Given the description of an element on the screen output the (x, y) to click on. 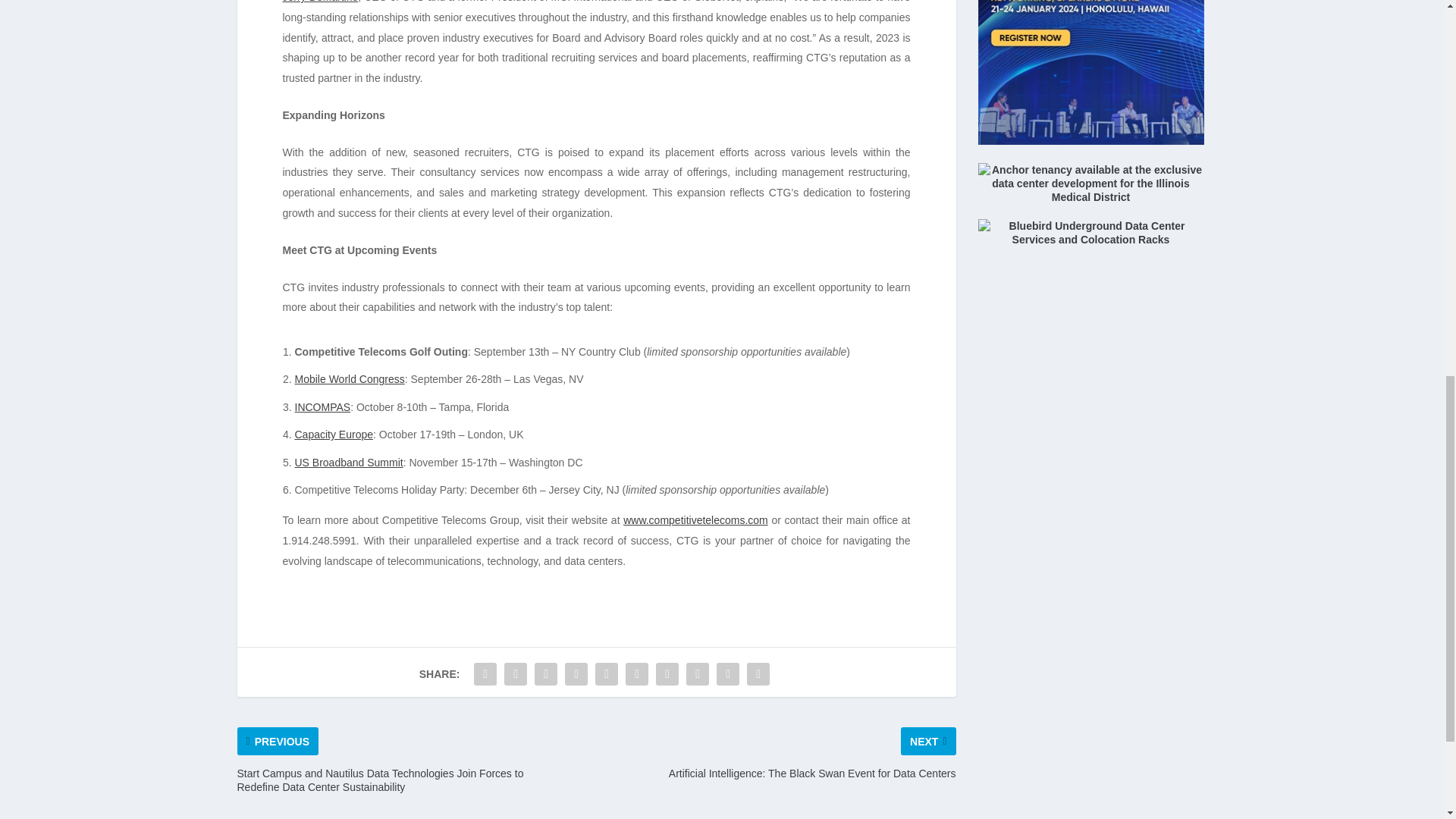
Jerry DeMartino (320, 1)
